Given the description of an element on the screen output the (x, y) to click on. 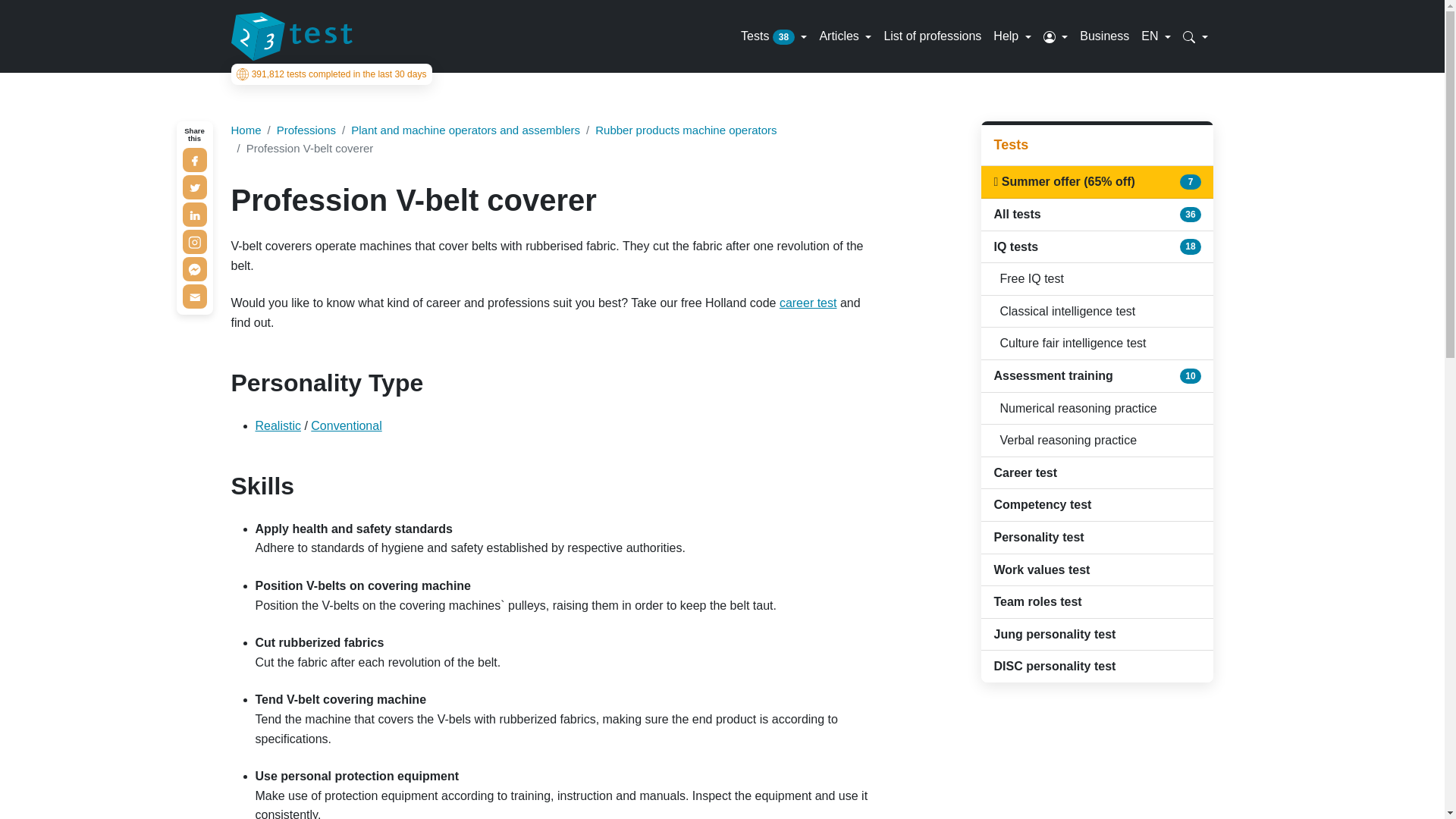
Articles (844, 36)
List of professions (932, 36)
Share on Facebook (194, 159)
Email (194, 296)
Tests 38 (773, 36)
Share on LinkedIn (194, 214)
Share on Twitter (194, 187)
391,812 tests completed in the last 30 days (331, 74)
Career test (807, 302)
Instagram (194, 241)
